Given the description of an element on the screen output the (x, y) to click on. 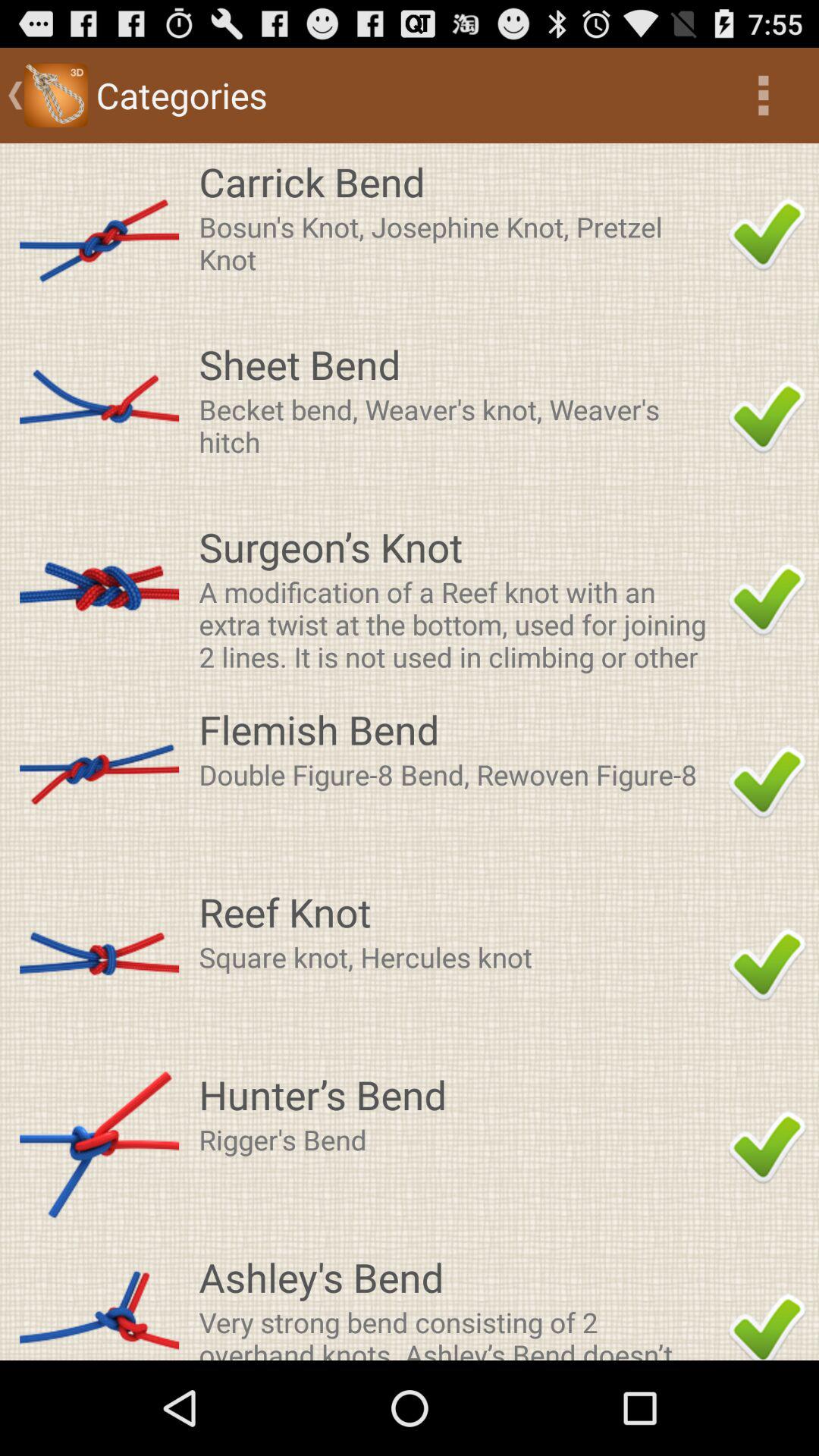
tap item below bosun s knot item (459, 363)
